Given the description of an element on the screen output the (x, y) to click on. 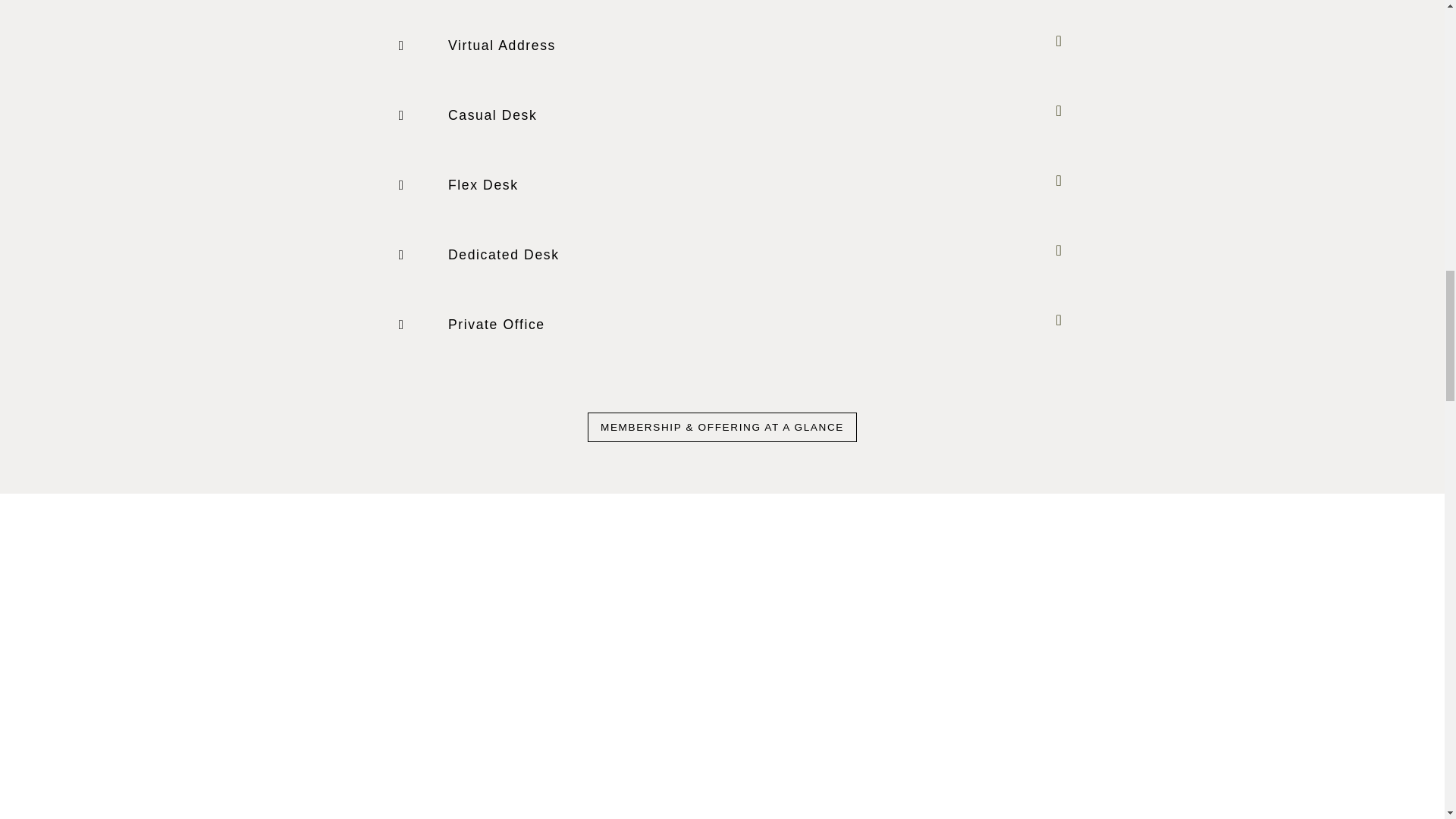
Dedicated Desk (465, 254)
Flex Desk (445, 184)
Casual Desk (454, 114)
Virtual Address (464, 45)
Private Office (458, 324)
